Given the description of an element on the screen output the (x, y) to click on. 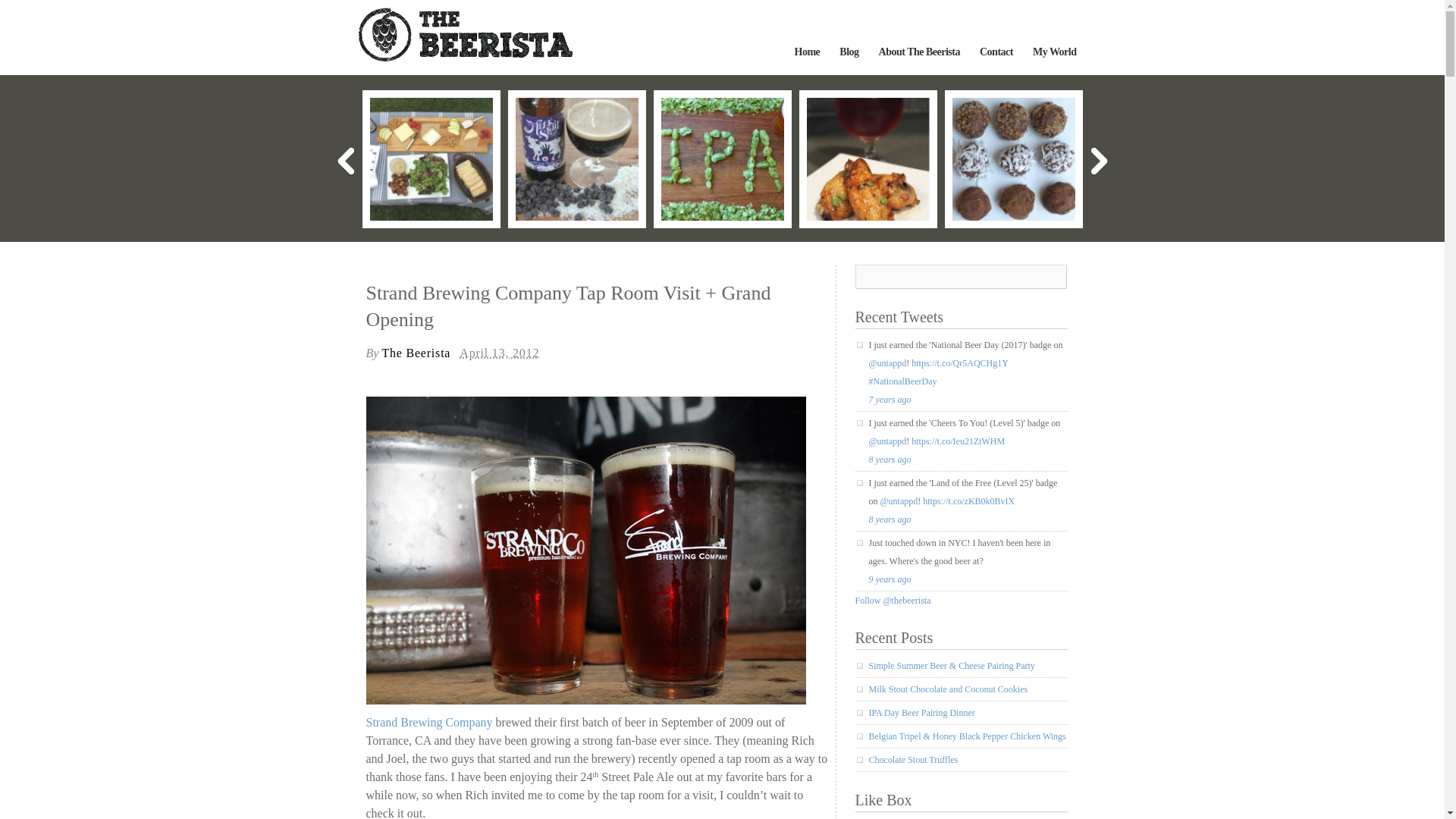
Contact (996, 52)
Blog (848, 52)
My World (1054, 52)
About The Beerista (919, 52)
Chocolate Stout Truffles (1013, 158)
Milk Stout Chocolate and Coconut Cookies (577, 158)
The Beerista (465, 34)
IPA Day Beer Pairing Dinner (722, 158)
The Beerista (465, 56)
Home (806, 52)
